Given the description of an element on the screen output the (x, y) to click on. 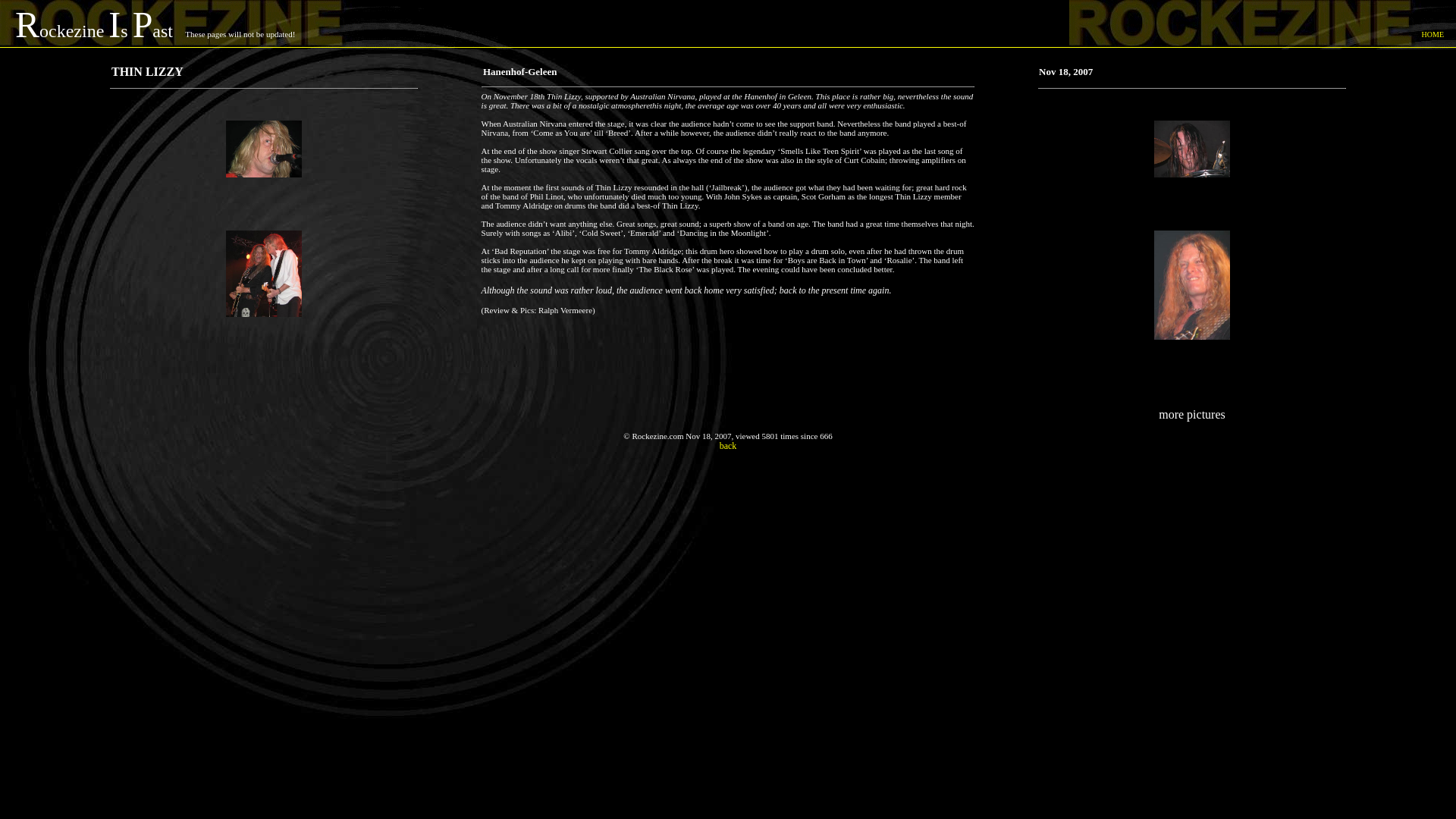
more pictures (1191, 413)
back (727, 445)
HOME (1433, 33)
Advertisement (727, 572)
